Given the description of an element on the screen output the (x, y) to click on. 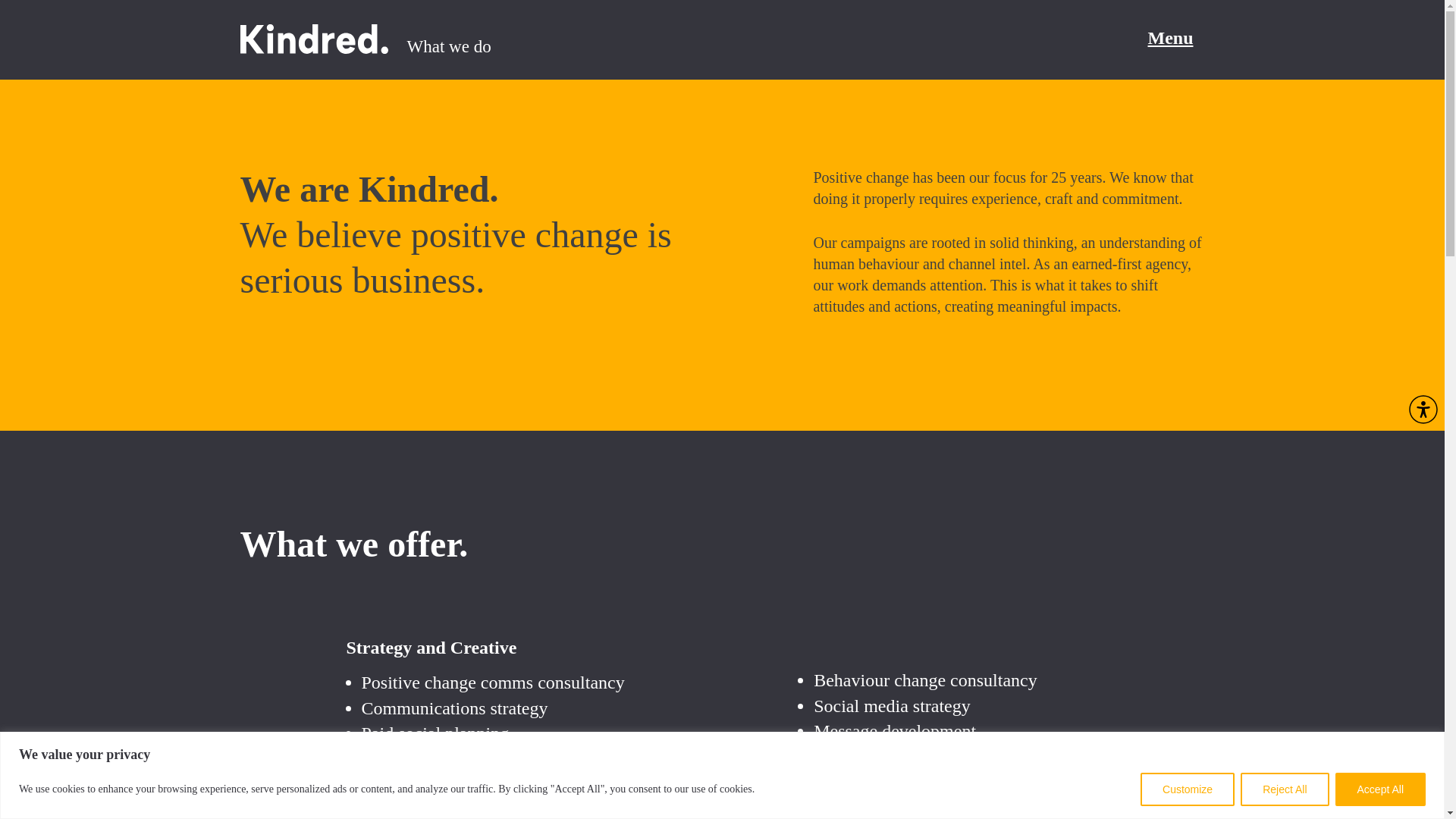
Reject All (1283, 788)
Customize (1187, 788)
Menu (1169, 43)
Accept All (1380, 788)
Accessibility Menu (1422, 409)
